Given the description of an element on the screen output the (x, y) to click on. 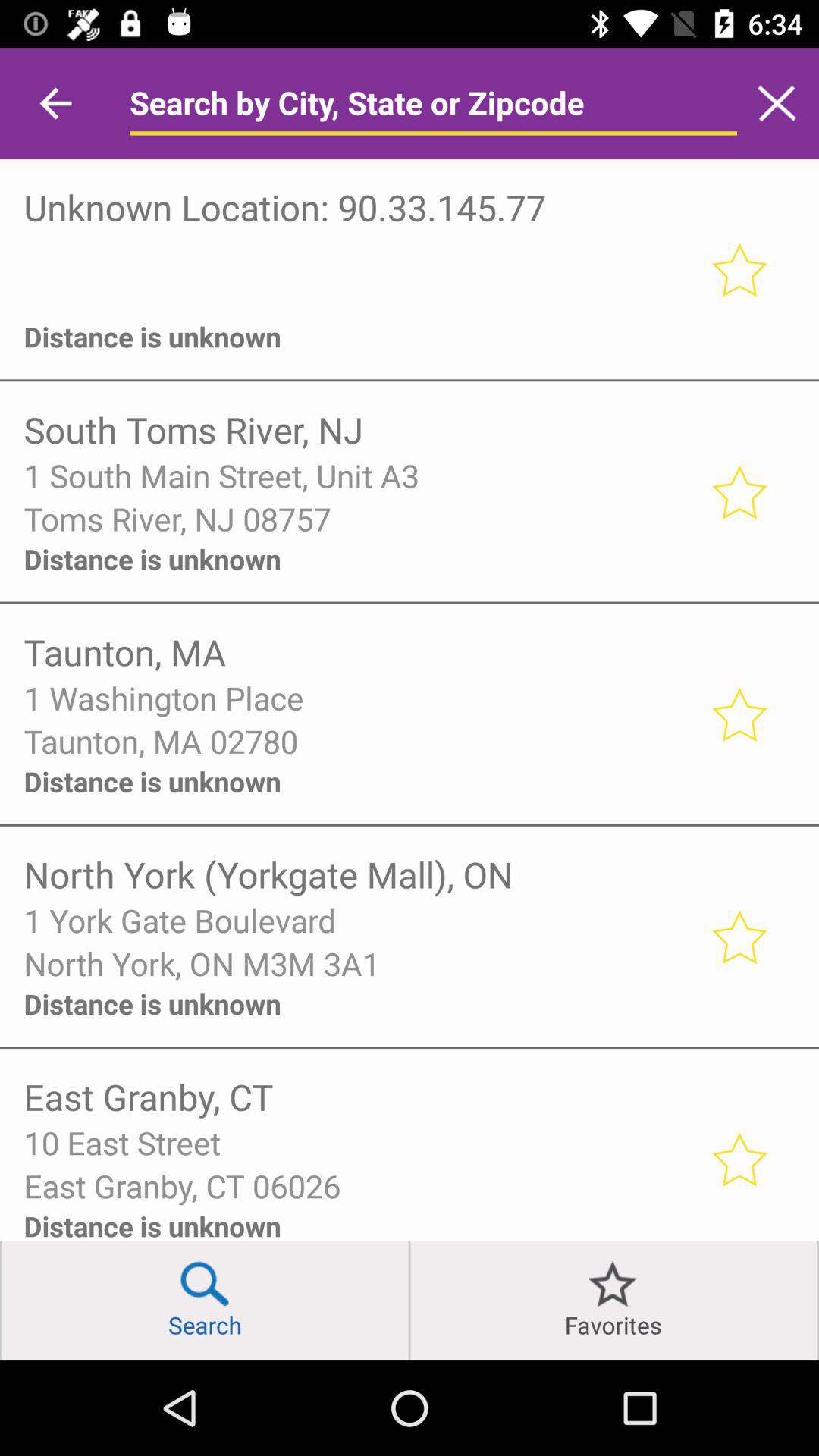
search bar (433, 103)
